Given the description of an element on the screen output the (x, y) to click on. 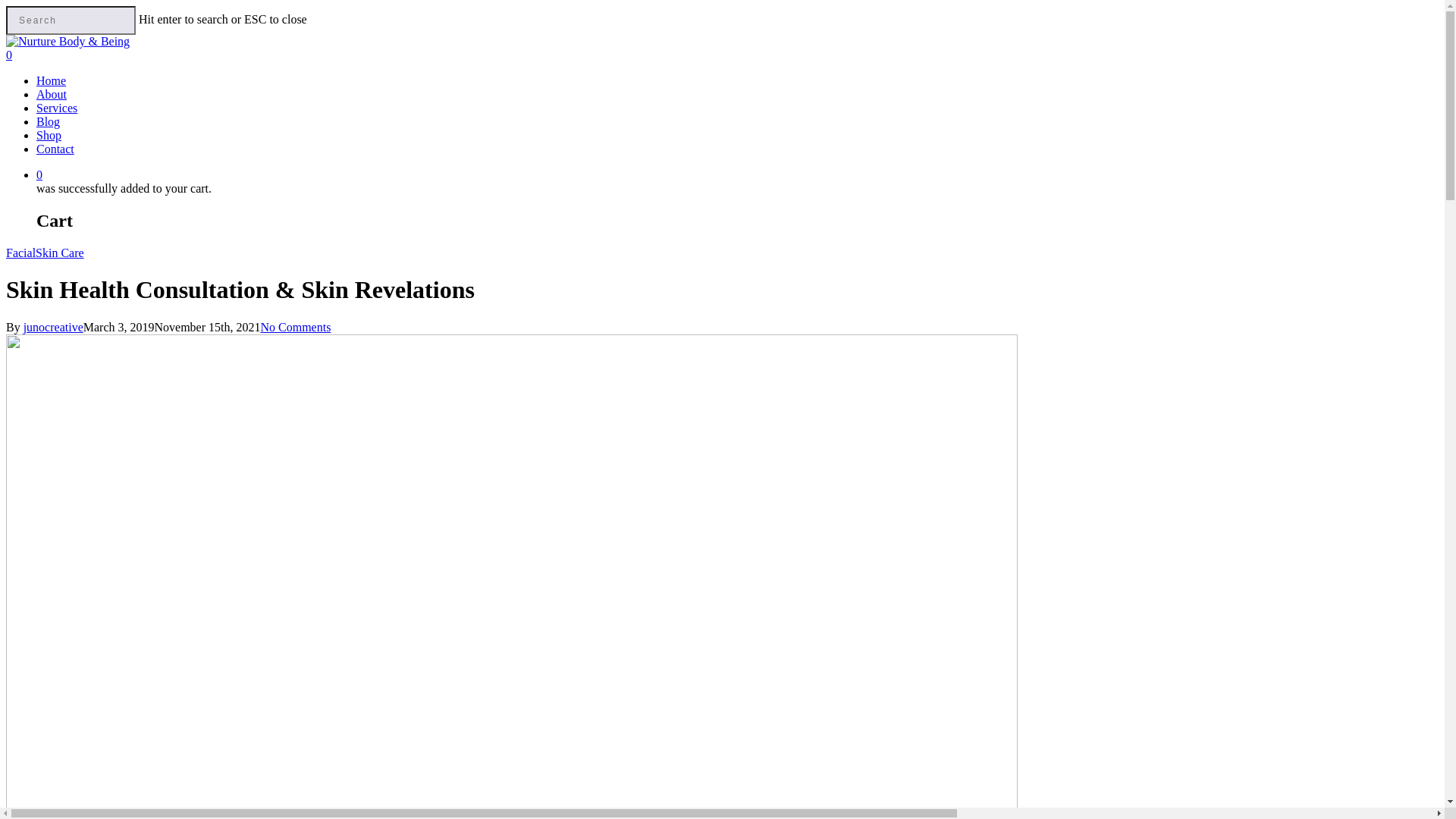
Contact Element type: text (55, 148)
About Element type: text (51, 93)
0 Element type: text (737, 175)
0 Element type: text (722, 55)
No Comments Element type: text (295, 326)
Services Element type: text (56, 107)
junocreative Element type: text (53, 326)
Home Element type: text (50, 80)
Shop Element type: text (48, 134)
Blog Element type: text (47, 121)
Skin Care Element type: text (59, 252)
Facial Element type: text (20, 252)
